Given the description of an element on the screen output the (x, y) to click on. 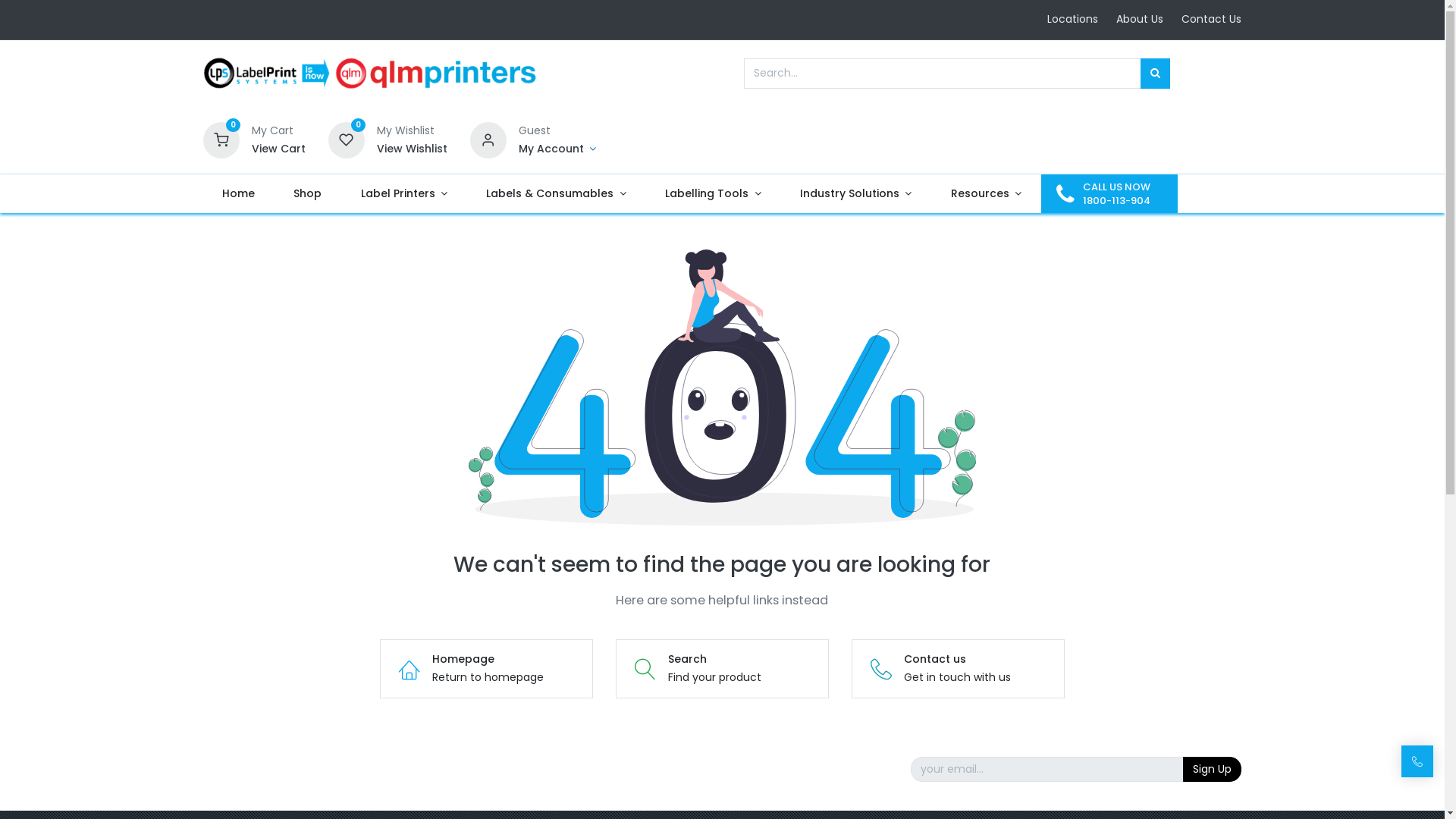
0 Element type: text (221, 138)
Homepage
Return to homepage Element type: text (486, 668)
Search Element type: hover (1155, 73)
Search
Find your product Element type: text (721, 668)
Label Printers Element type: text (404, 193)
View Wishlist Element type: text (411, 148)
CALL US NOW 1800-113-904 Element type: text (1109, 193)
About Us Element type: text (1139, 18)
0 Element type: text (346, 138)
My Account Element type: text (557, 148)
Industry Solutions Element type: text (855, 193)
Resources Element type: text (986, 193)
Shop Element type: text (307, 193)
 Locations  Element type: text (1072, 18)
Labels & Consumables Element type: text (556, 193)
Labelling Tools Element type: text (713, 193)
lps Element type: hover (370, 73)
Contact Us Element type: text (1211, 18)
Sign Up Element type: text (1212, 769)
View Cart Element type: text (278, 148)
Contact us
Get in touch with us Element type: text (957, 668)
Home Element type: text (238, 193)
